Given the description of an element on the screen output the (x, y) to click on. 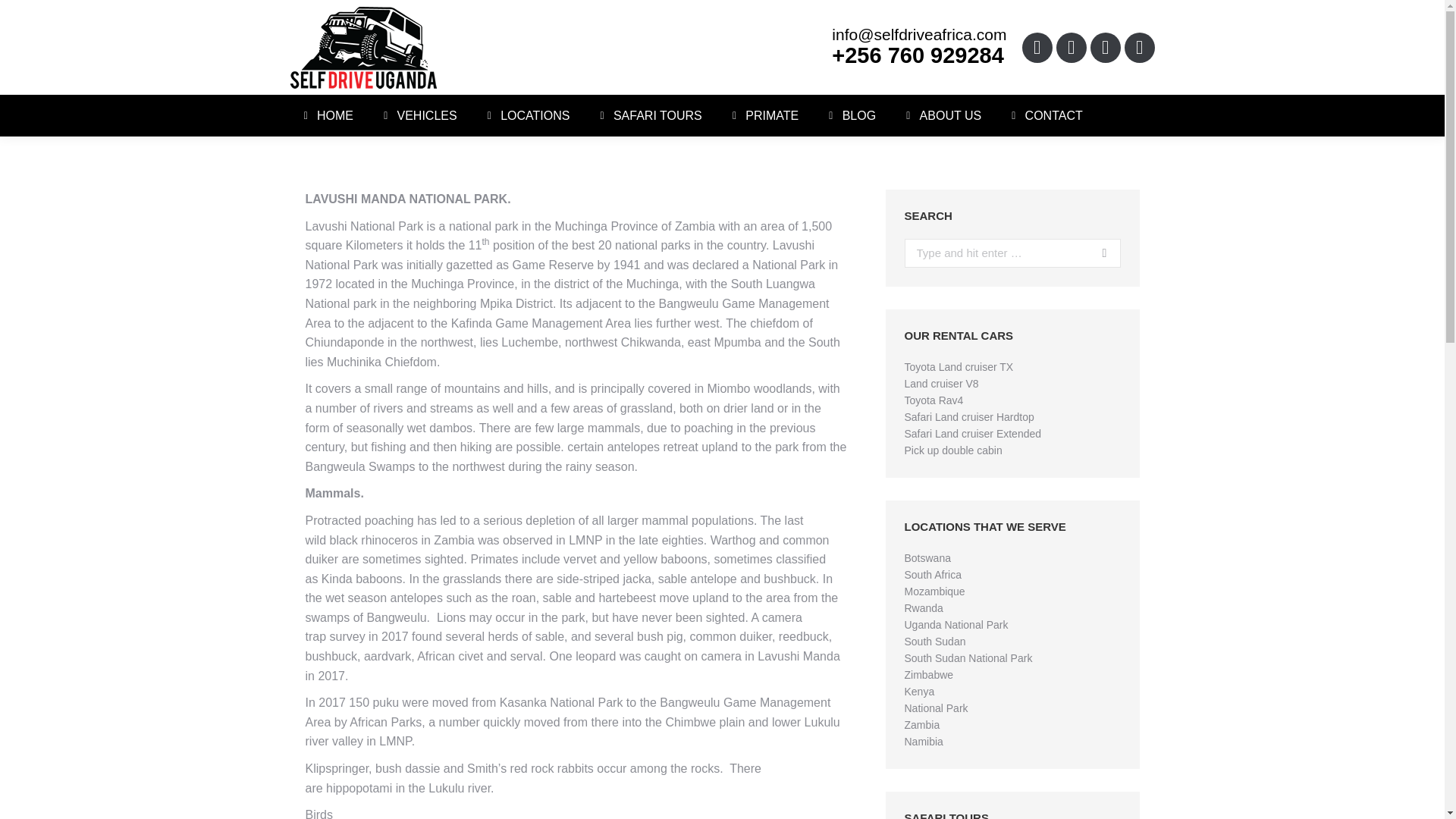
Go! (1098, 253)
VEHICLES (417, 115)
HOME (325, 115)
Linkedin page opens in new window (1105, 46)
Linkedin page opens in new window (1105, 46)
Twitter page opens in new window (1071, 46)
Facebook page opens in new window (1037, 46)
Twitter page opens in new window (1071, 46)
Rss page opens in new window (1139, 46)
Rss page opens in new window (1139, 46)
